Given the description of an element on the screen output the (x, y) to click on. 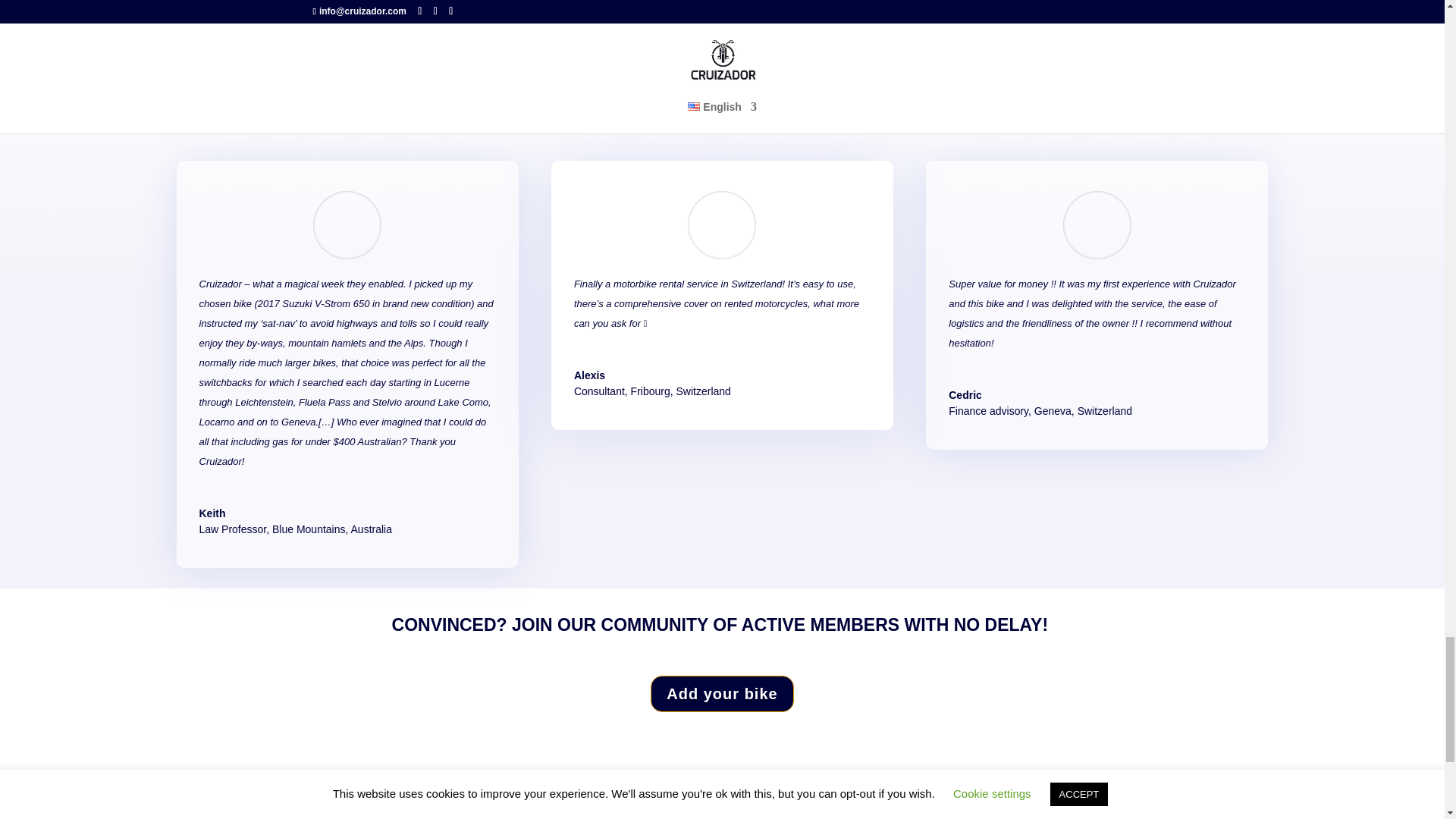
Follow on LinkedIn (847, 793)
Follow on Facebook (756, 793)
Follow on Instagram (786, 793)
Add your bike (721, 693)
Follow on X (817, 793)
